Given the description of an element on the screen output the (x, y) to click on. 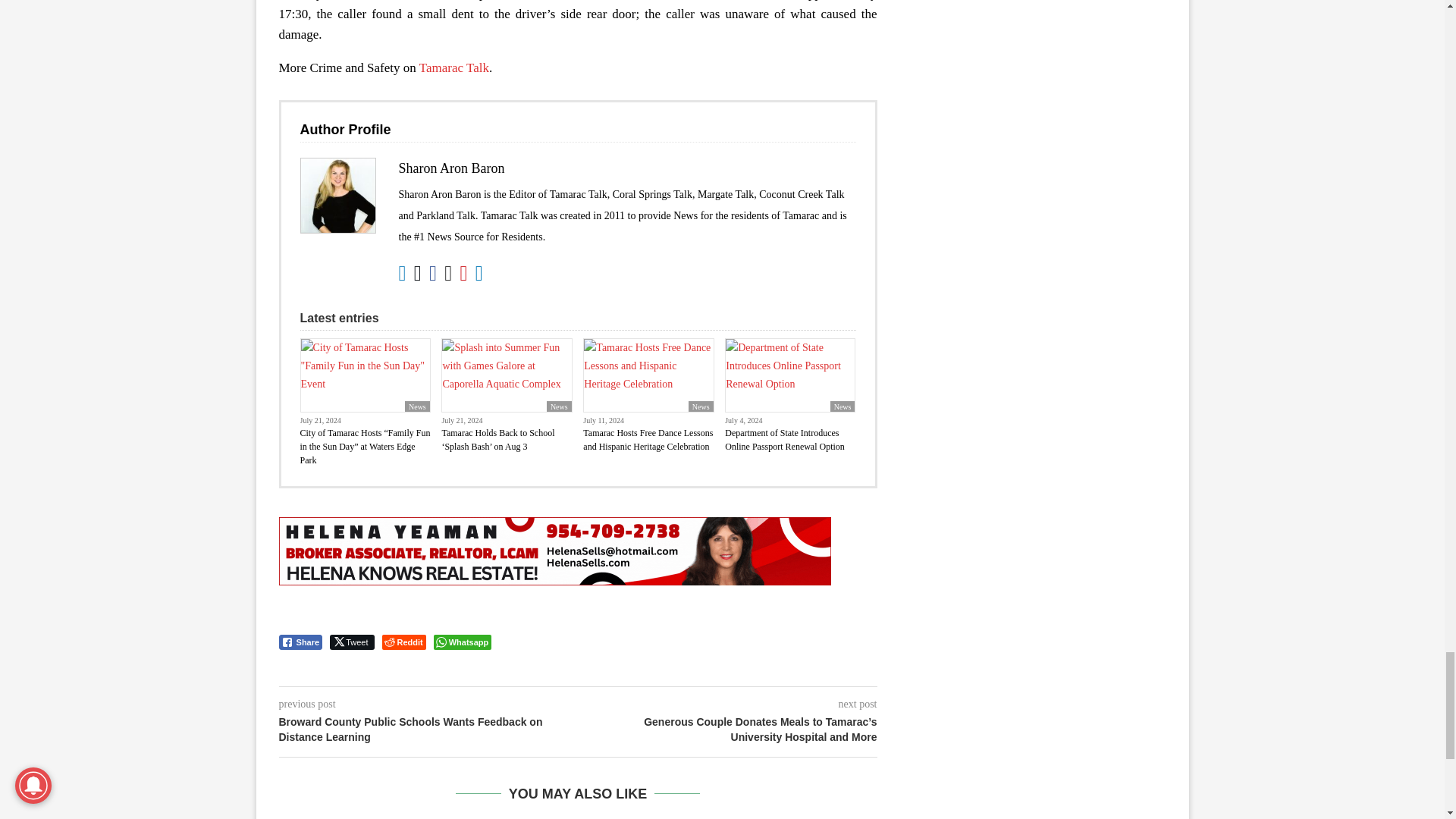
Tamarac Holds Back to School 'Splash Bash' on Aug 3 3 (506, 375)
